Given the description of an element on the screen output the (x, y) to click on. 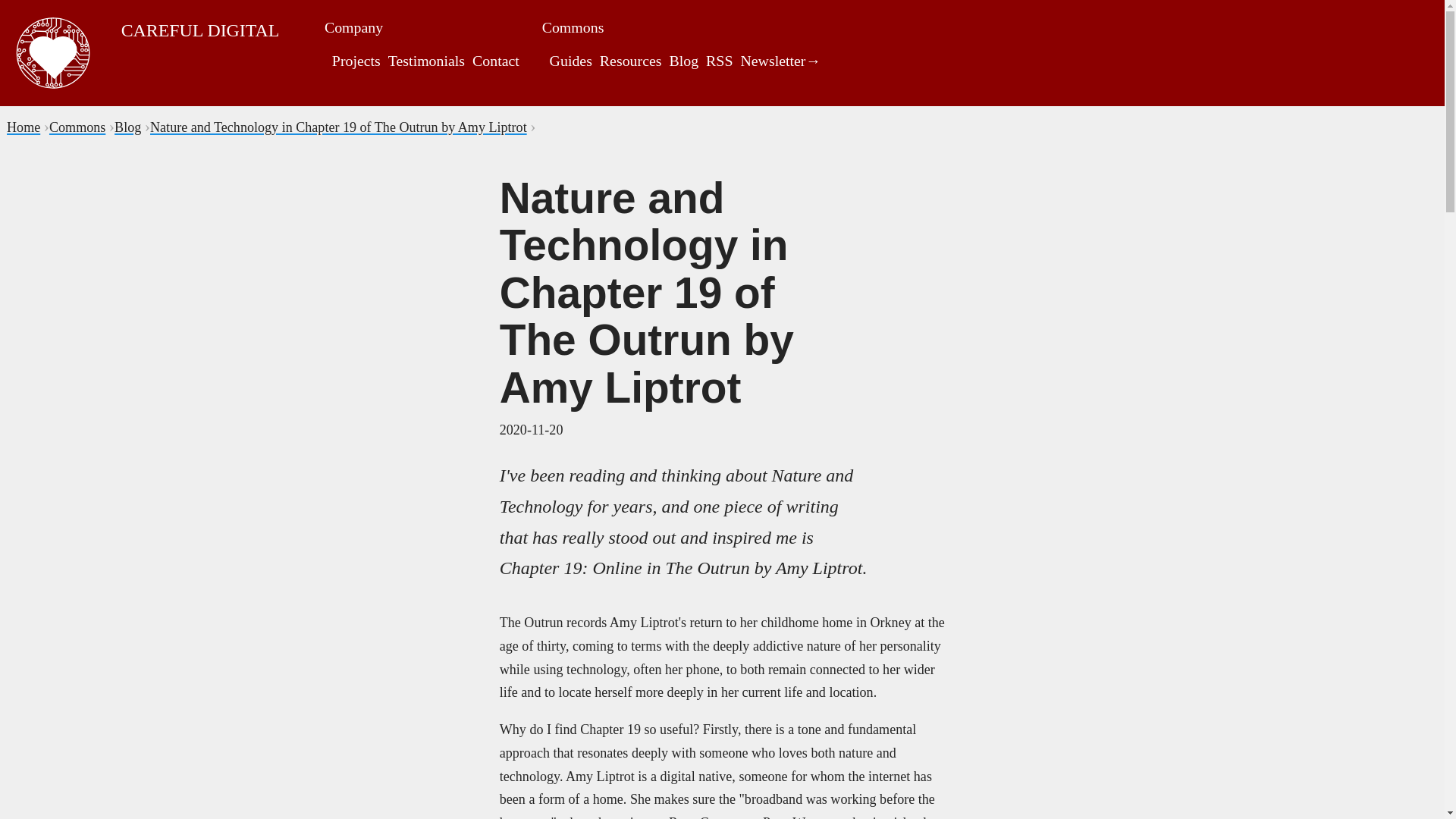
Commons (572, 27)
CAREFUL DIGITAL (199, 30)
Projects (355, 60)
Blog (683, 60)
Company (353, 27)
Home (23, 127)
Testimonials (426, 60)
Blog (128, 127)
Contact (495, 60)
Commons (76, 127)
